Given the description of an element on the screen output the (x, y) to click on. 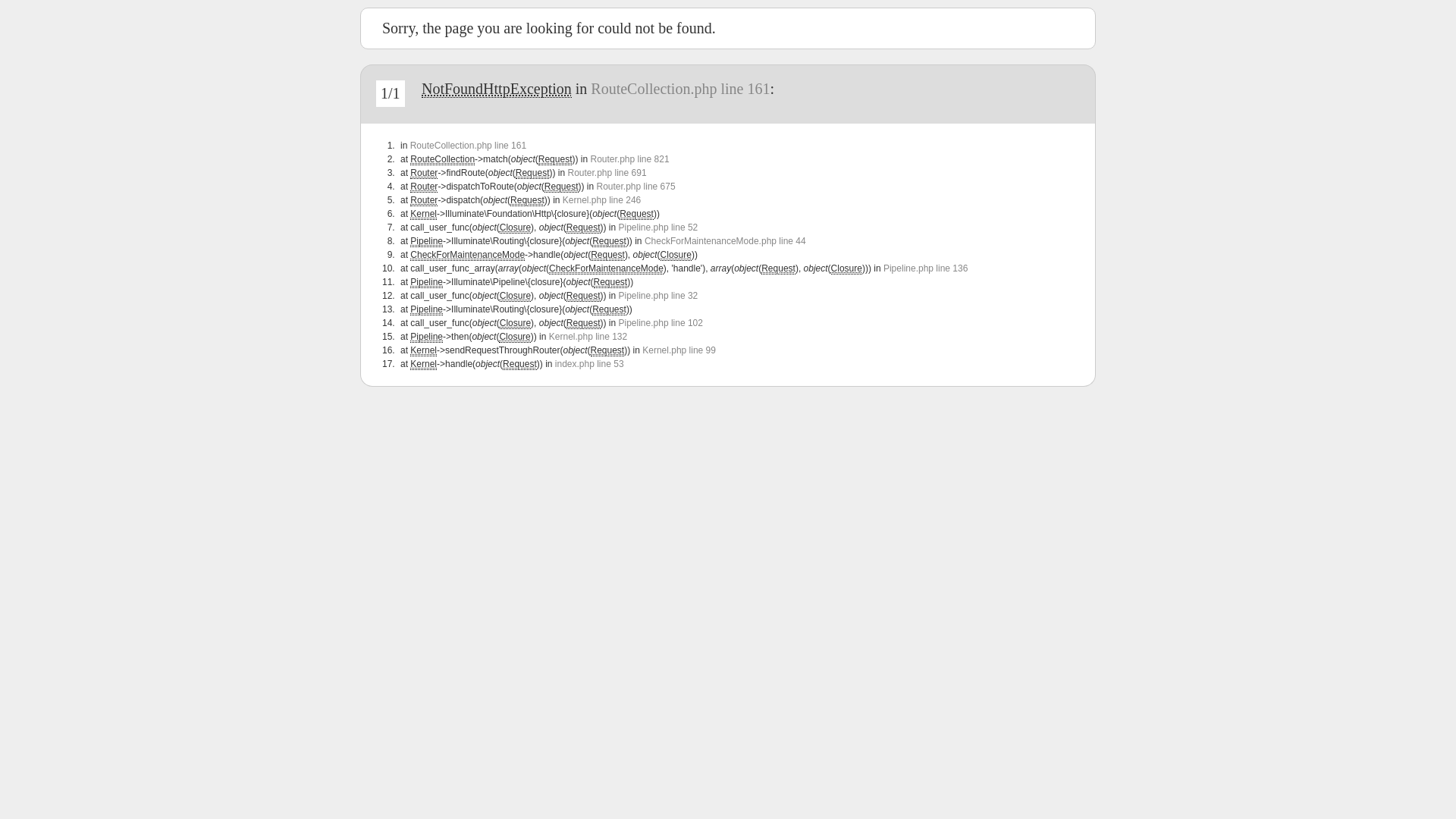
Kernel.php line 246 Element type: text (601, 199)
Kernel.php line 132 Element type: text (588, 336)
Router.php line 691 Element type: text (606, 172)
RouteCollection.php line 161 Element type: text (468, 145)
RouteCollection.php line 161 Element type: text (679, 88)
CheckForMaintenanceMode.php line 44 Element type: text (725, 240)
Pipeline.php line 52 Element type: text (658, 227)
Pipeline.php line 102 Element type: text (660, 322)
Pipeline.php line 32 Element type: text (658, 295)
Router.php line 821 Element type: text (628, 158)
Router.php line 675 Element type: text (635, 186)
index.php line 53 Element type: text (589, 363)
Kernel.php line 99 Element type: text (678, 350)
Pipeline.php line 136 Element type: text (925, 268)
